Given the description of an element on the screen output the (x, y) to click on. 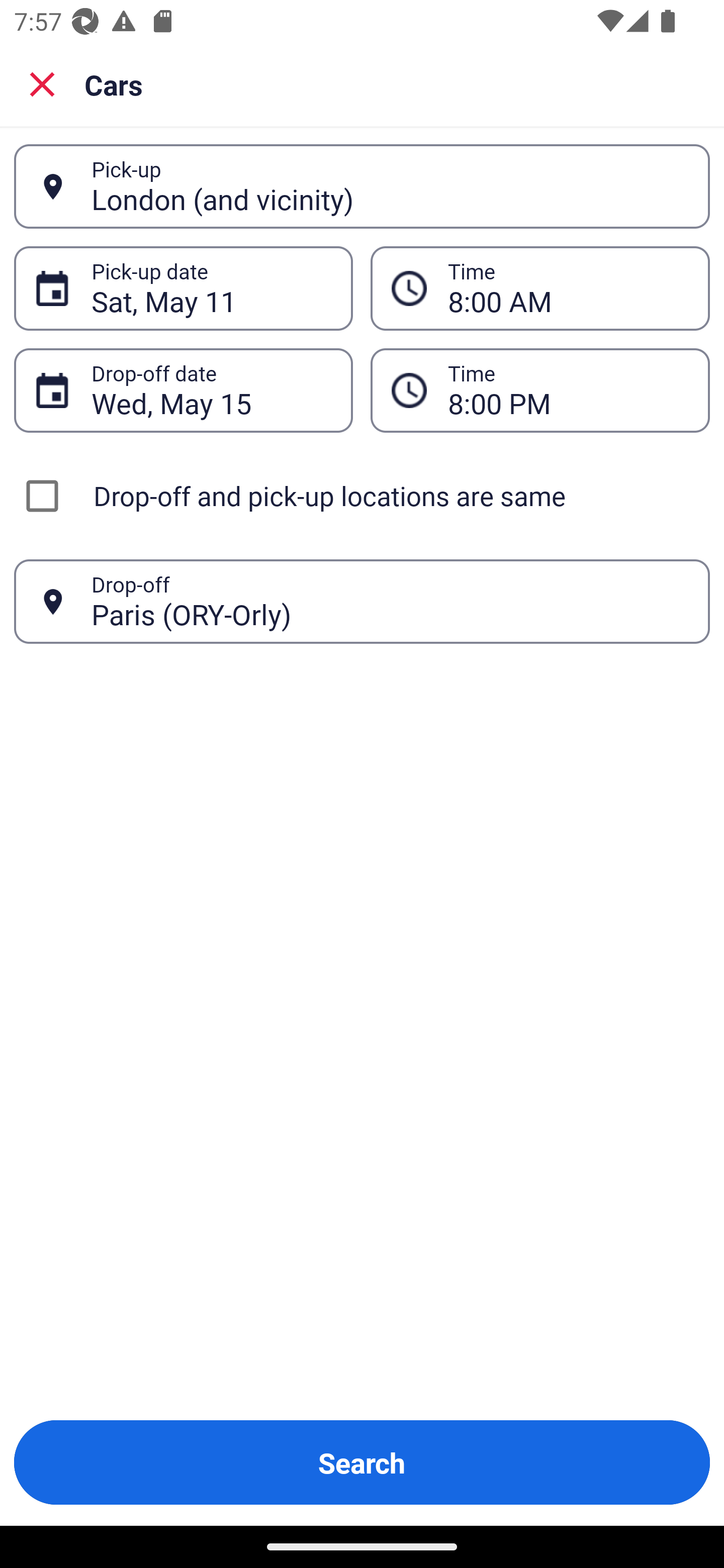
Close search screen (41, 83)
London (and vicinity) Pick-up (361, 186)
London (and vicinity) (389, 186)
Sat, May 11 Pick-up date (183, 288)
8:00 AM (540, 288)
Sat, May 11 (211, 288)
8:00 AM (568, 288)
Wed, May 15 Drop-off date (183, 390)
8:00 PM (540, 390)
Wed, May 15 (211, 390)
8:00 PM (568, 390)
Drop-off and pick-up locations are same (361, 495)
Paris (ORY-Orly) Drop-off (361, 601)
Paris (ORY-Orly) (389, 601)
Search Button Search (361, 1462)
